Given the description of an element on the screen output the (x, y) to click on. 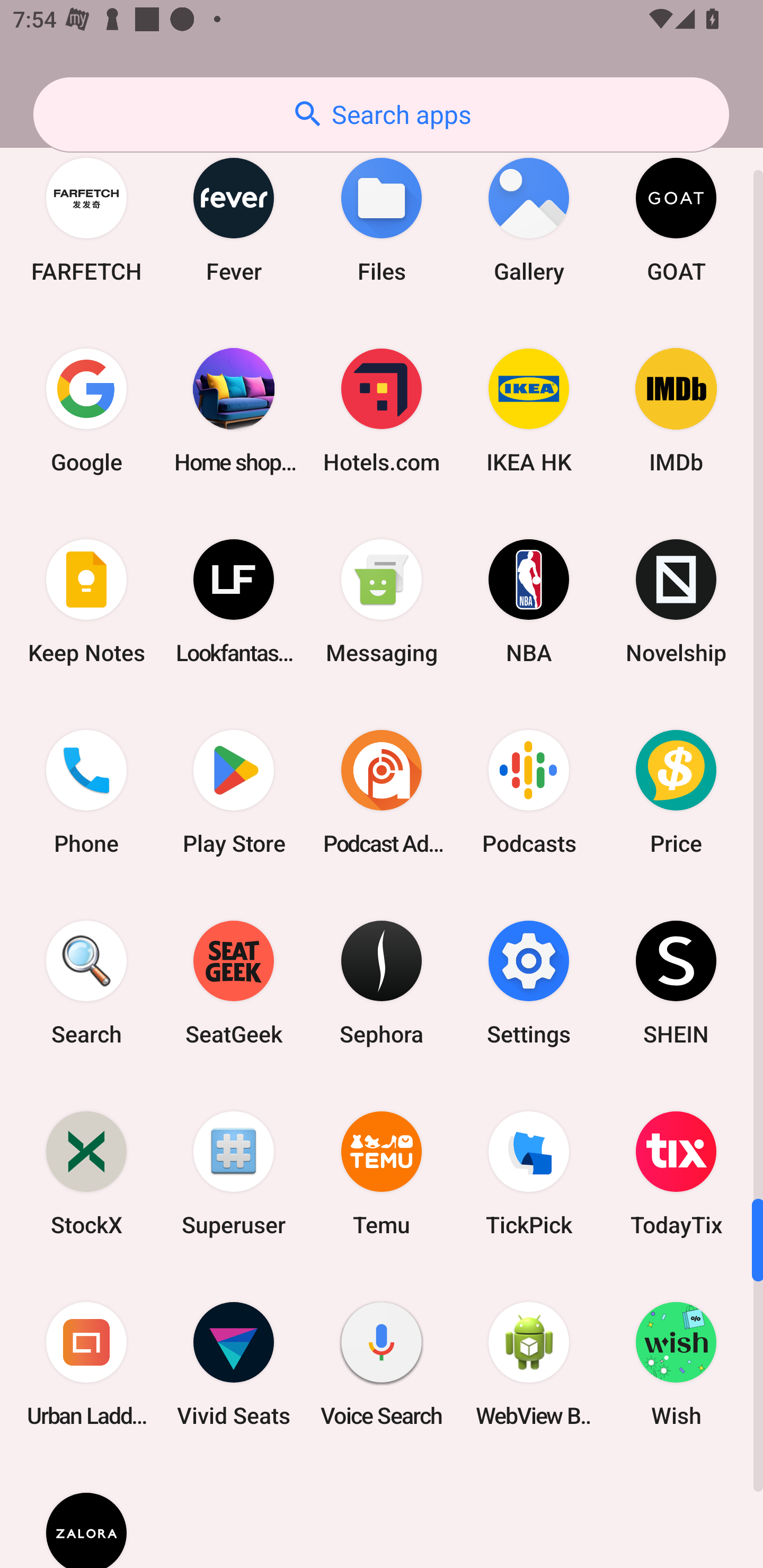
  Search apps (381, 114)
FARFETCH (86, 219)
Fever (233, 219)
Files (381, 219)
Gallery (528, 219)
GOAT (676, 219)
Google (86, 410)
Home shopping (233, 410)
Hotels.com (381, 410)
IKEA HK (528, 410)
IMDb (676, 410)
Keep Notes (86, 601)
Lookfantastic (233, 601)
Messaging (381, 601)
NBA (528, 601)
Novelship (676, 601)
Phone (86, 791)
Play Store (233, 791)
Podcast Addict (381, 791)
Podcasts (528, 791)
Price (676, 791)
Search (86, 982)
SeatGeek (233, 982)
Sephora (381, 982)
Settings (528, 982)
SHEIN (676, 982)
StockX (86, 1173)
Superuser (233, 1173)
Temu (381, 1173)
TickPick (528, 1173)
TodayTix (676, 1173)
Urban Ladder (86, 1363)
Vivid Seats (233, 1363)
Voice Search (381, 1363)
WebView Browser Tester (528, 1363)
Wish (676, 1363)
ZALORA (86, 1513)
